Given the description of an element on the screen output the (x, y) to click on. 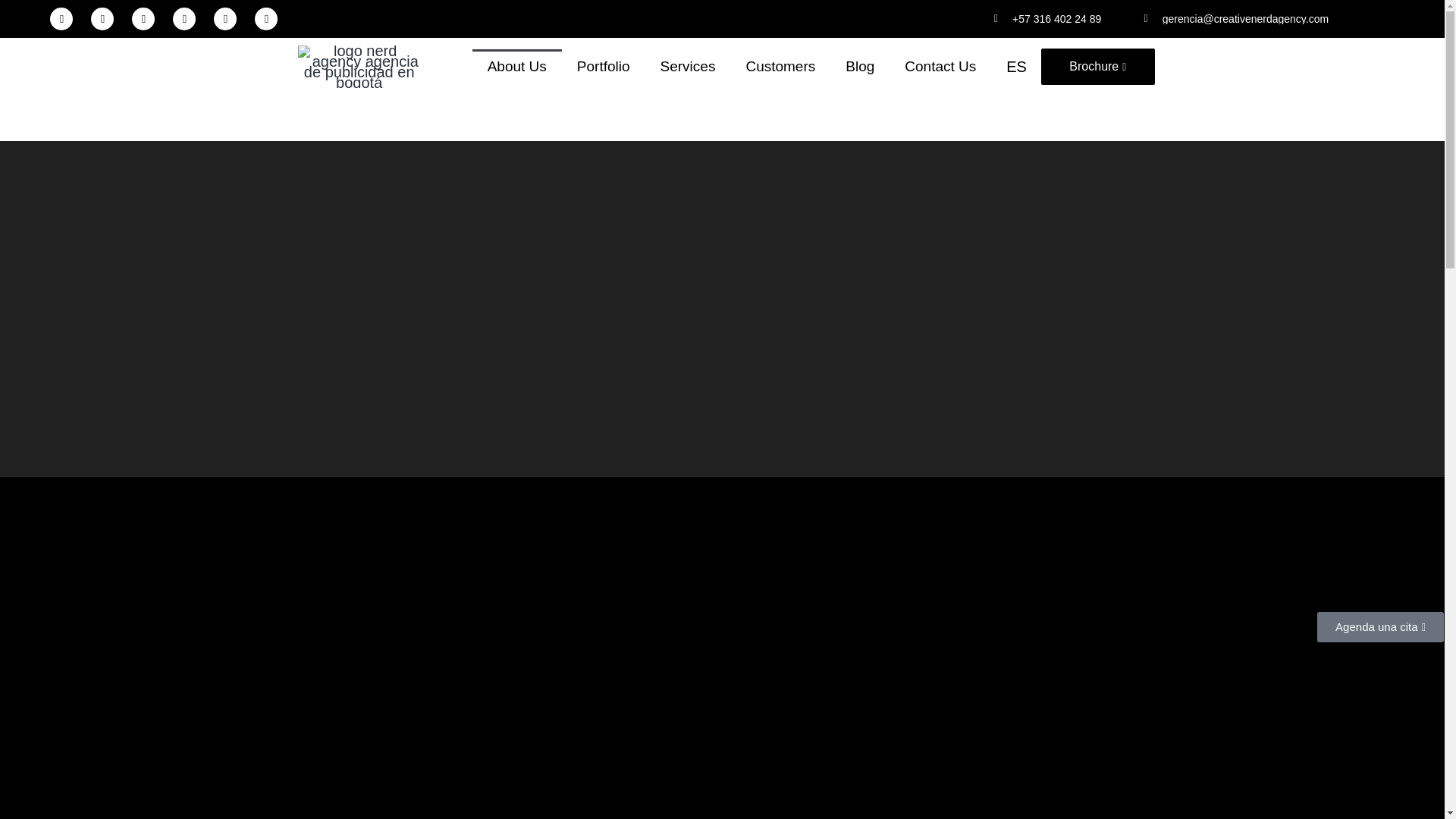
Brochure (1097, 66)
Portfolio (603, 66)
Agenda una cita (1380, 626)
ES (1016, 66)
Blog (859, 66)
About Us (516, 66)
Customers (779, 66)
logo-agency (358, 66)
Services (687, 66)
Contact Us (940, 66)
